Given the description of an element on the screen output the (x, y) to click on. 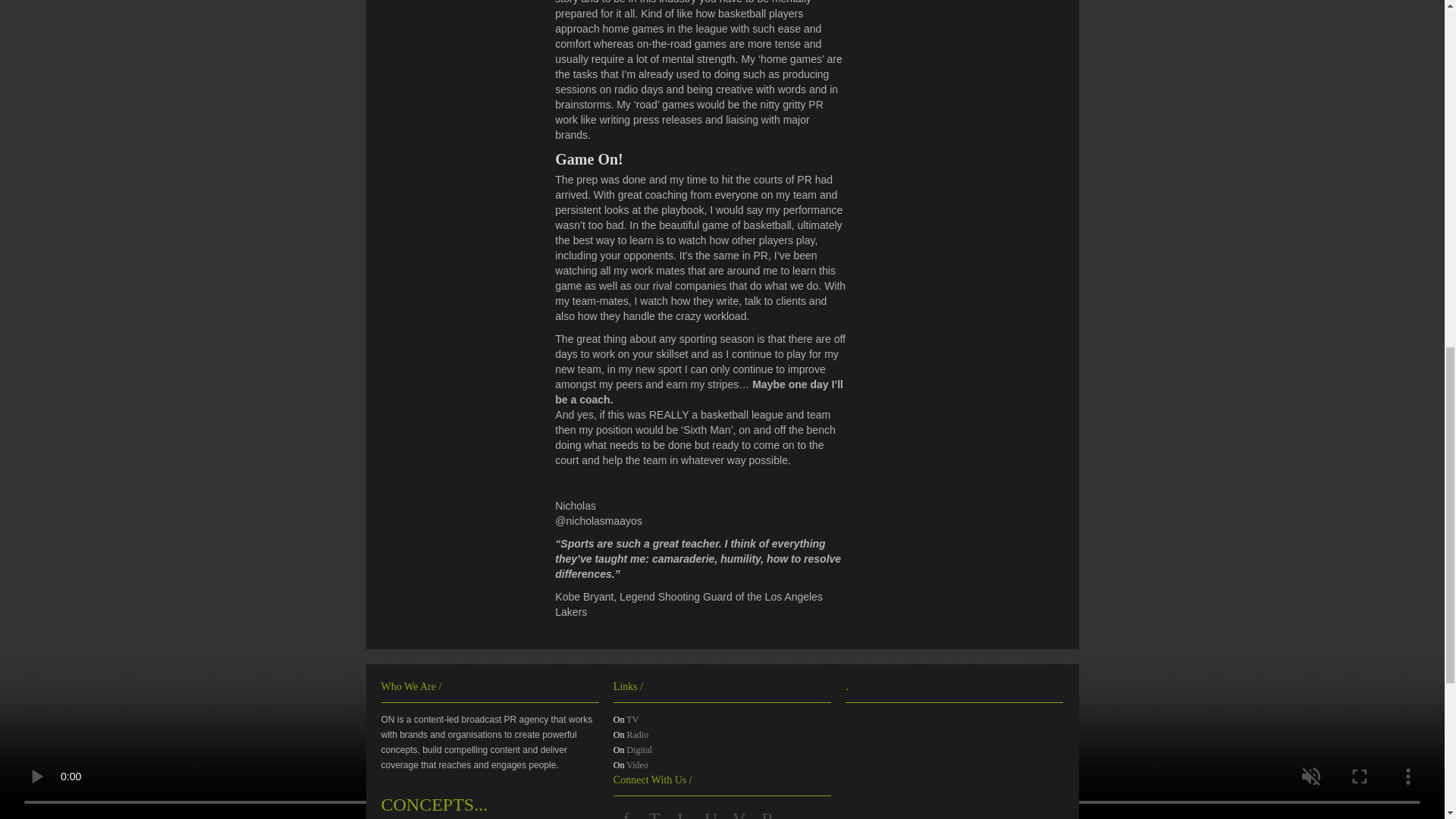
On Digital (632, 749)
On Video (629, 765)
On TV (625, 719)
On Radio (629, 734)
